Given the description of an element on the screen output the (x, y) to click on. 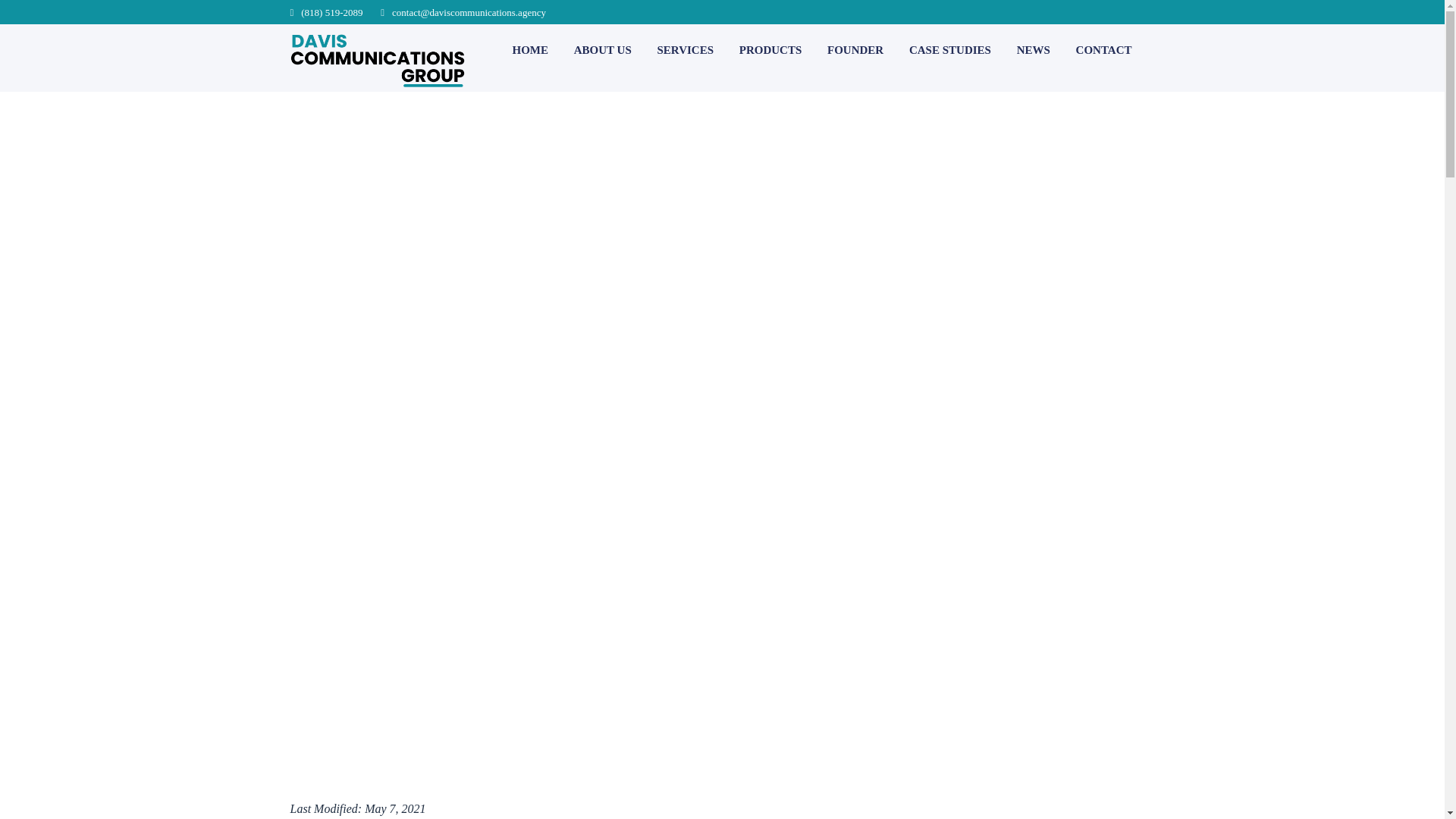
ABOUT US (602, 50)
PRODUCTS (770, 50)
HOME (530, 50)
NEWS (1032, 50)
CASE STUDIES (949, 50)
SERVICES (684, 50)
FOUNDER (855, 50)
CONTACT (1103, 50)
